Given the description of an element on the screen output the (x, y) to click on. 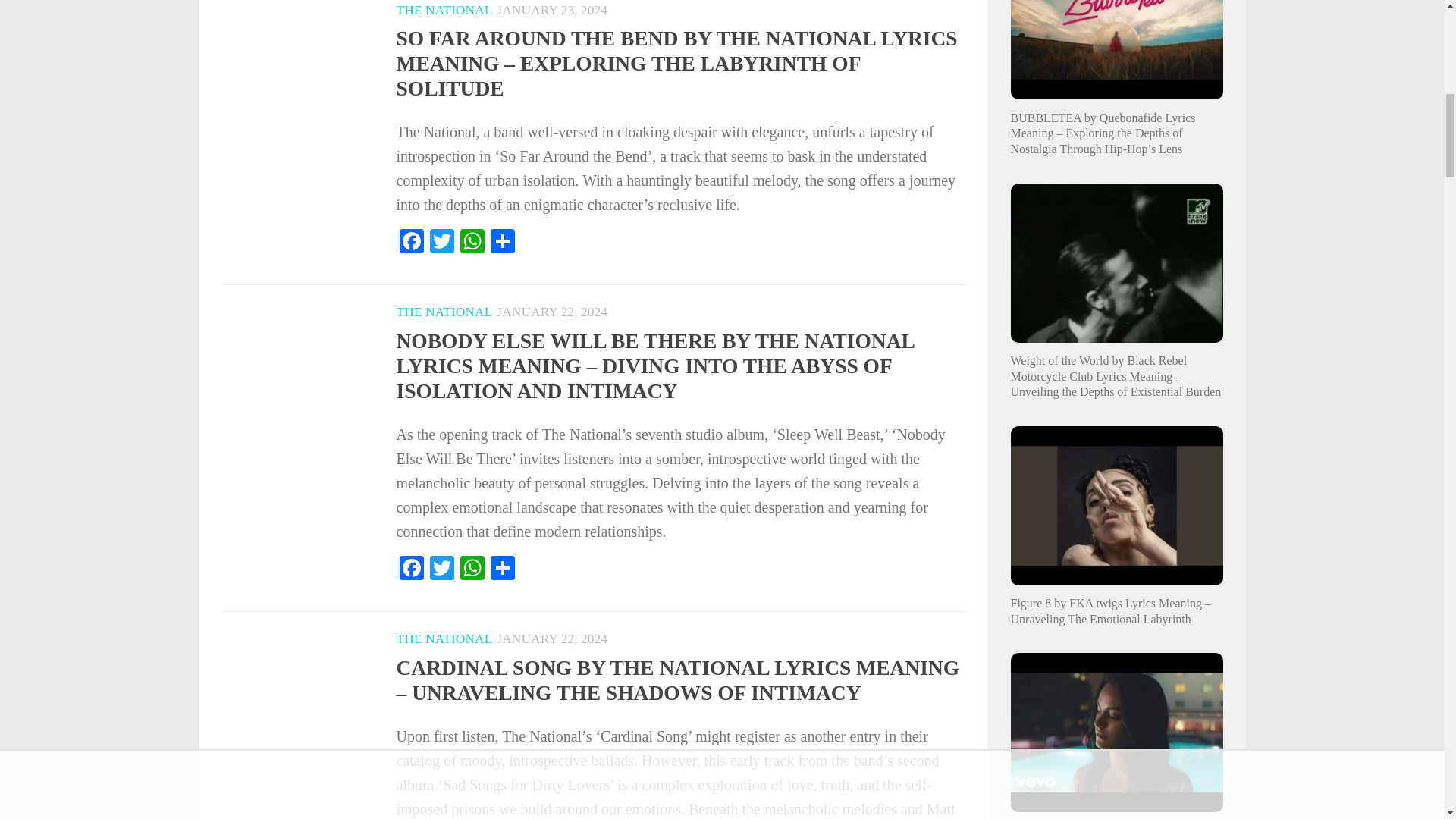
WhatsApp (471, 243)
Facebook (411, 243)
THE NATIONAL (444, 8)
Share (501, 243)
WhatsApp (471, 243)
Twitter (441, 243)
Twitter (441, 243)
Facebook (411, 243)
